Given the description of an element on the screen output the (x, y) to click on. 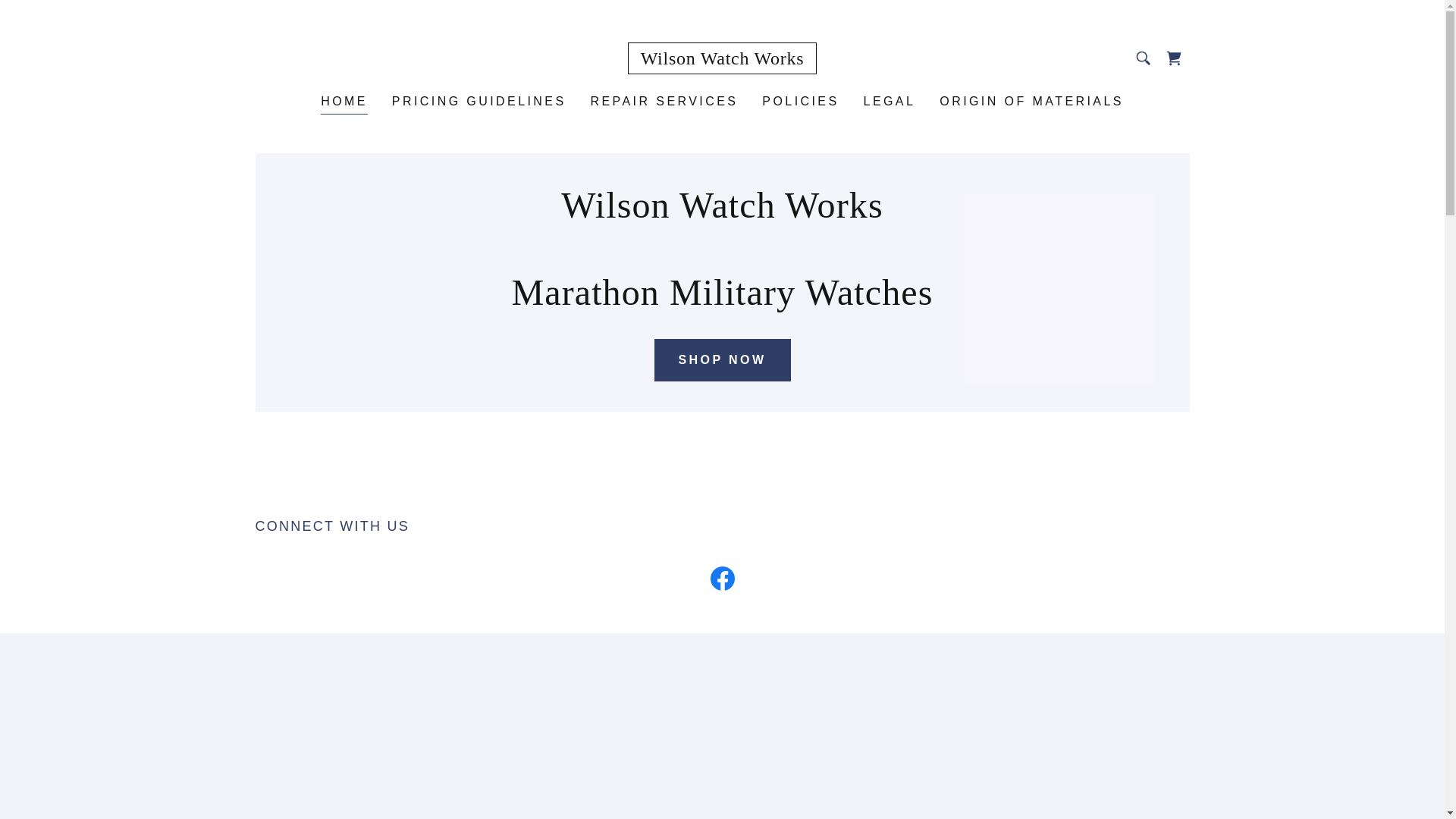
Wilson Watch Works (721, 59)
REPAIR SERVICES (664, 101)
ORIGIN OF MATERIALS (1031, 101)
PRICING GUIDELINES (478, 101)
HOME (344, 103)
Wilson Watch Works (721, 59)
LEGAL (889, 101)
SHOP NOW (721, 360)
POLICIES (800, 101)
